Given the description of an element on the screen output the (x, y) to click on. 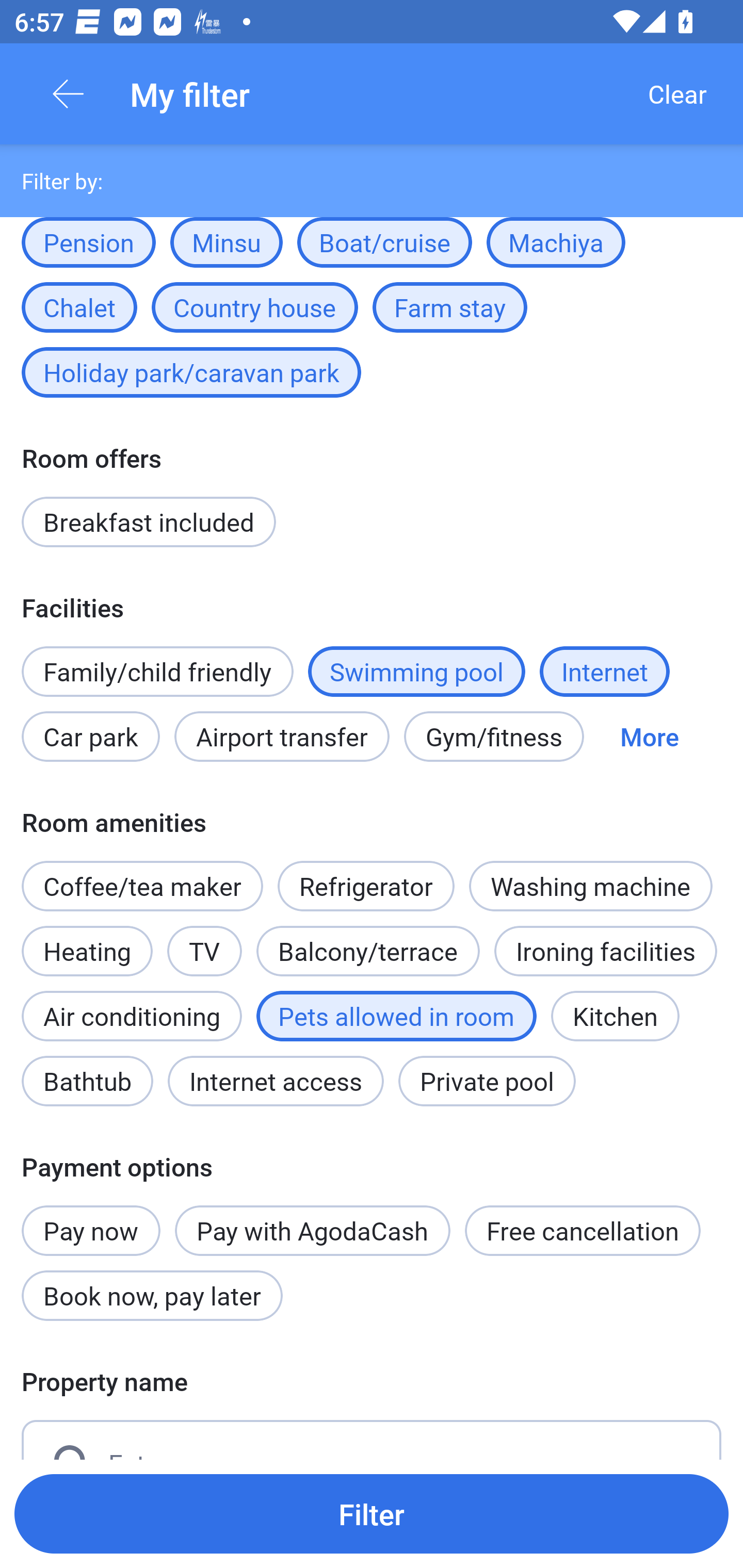
Clear (676, 93)
Breakfast included (148, 522)
Family/child friendly (157, 671)
Car park (90, 736)
Airport transfer (281, 736)
Gym/fitness (493, 736)
More (649, 736)
Coffee/tea maker (142, 886)
Refrigerator (365, 875)
Washing machine (590, 886)
Heating (87, 939)
TV (204, 950)
Balcony/terrace (367, 939)
Ironing facilities (605, 950)
Air conditioning (131, 1015)
Kitchen (615, 1015)
Bathtub (87, 1081)
Internet access (275, 1081)
Private pool (486, 1081)
Pay now (90, 1219)
Pay with AgodaCash (312, 1229)
Free cancellation (582, 1229)
Book now, pay later (152, 1295)
Filter (371, 1513)
